Given the description of an element on the screen output the (x, y) to click on. 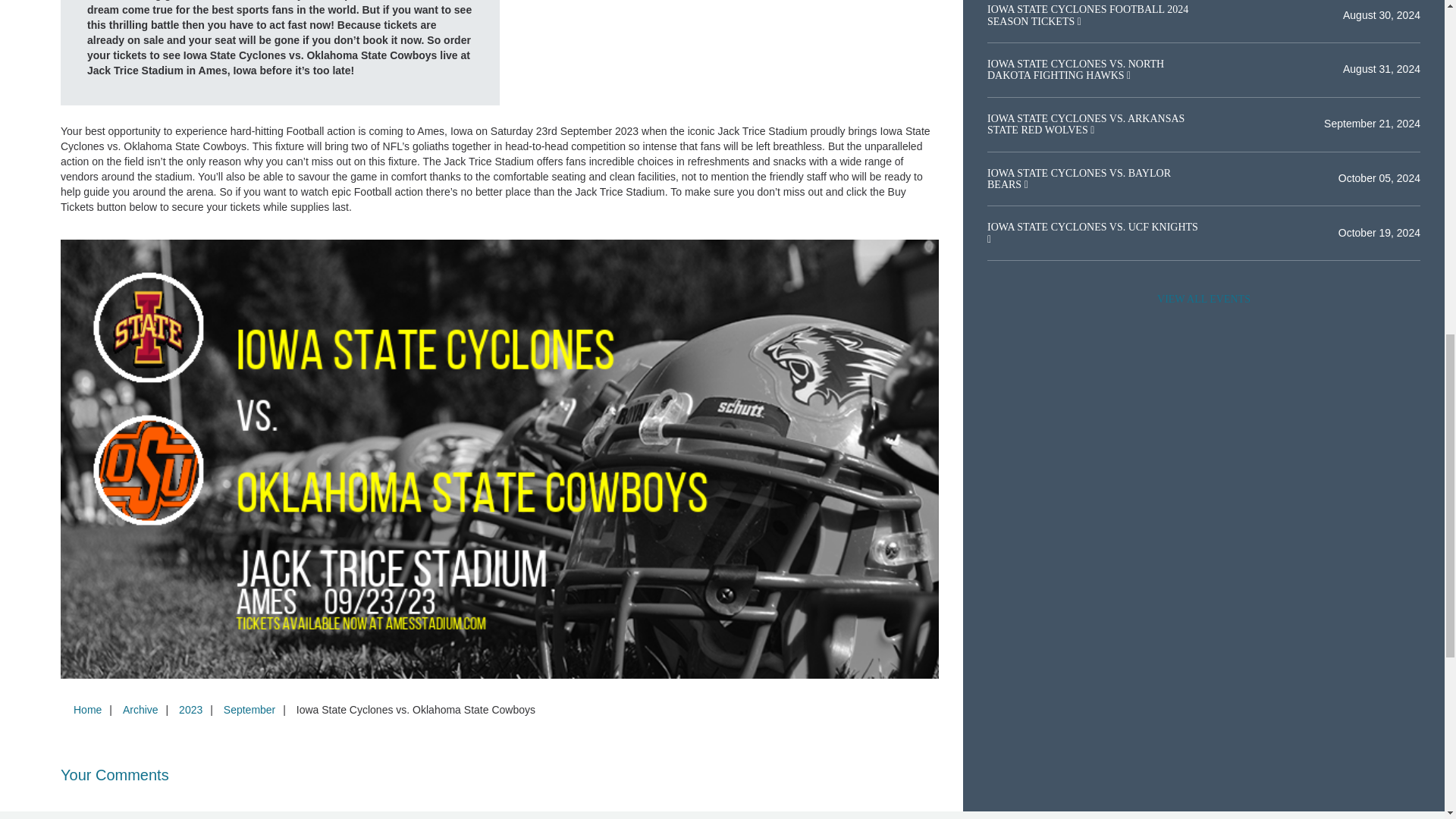
September (248, 709)
Archive (140, 709)
Home (87, 709)
IOWA STATE CYCLONES VS. NORTH DAKOTA FIGHTING HAWKS (1075, 69)
IOWA STATE CYCLONES VS. ARKANSAS STATE RED WOLVES (1086, 124)
IOWA STATE CYCLONES FOOTBALL 2024 SEASON TICKETS (1087, 15)
VIEW ALL EVENTS (1203, 299)
2023 (190, 709)
